Given the description of an element on the screen output the (x, y) to click on. 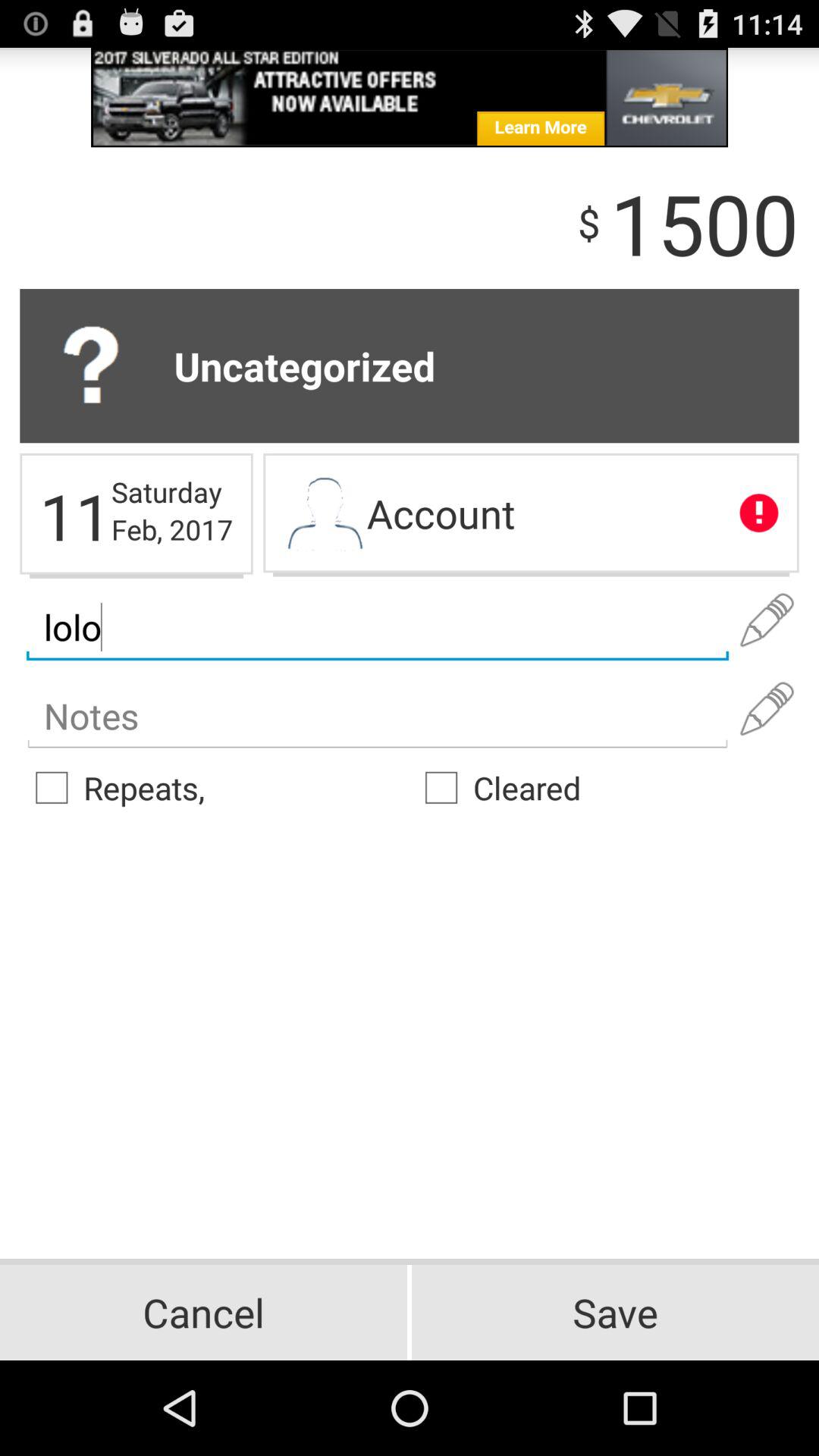
edit this text (767, 620)
